Given the description of an element on the screen output the (x, y) to click on. 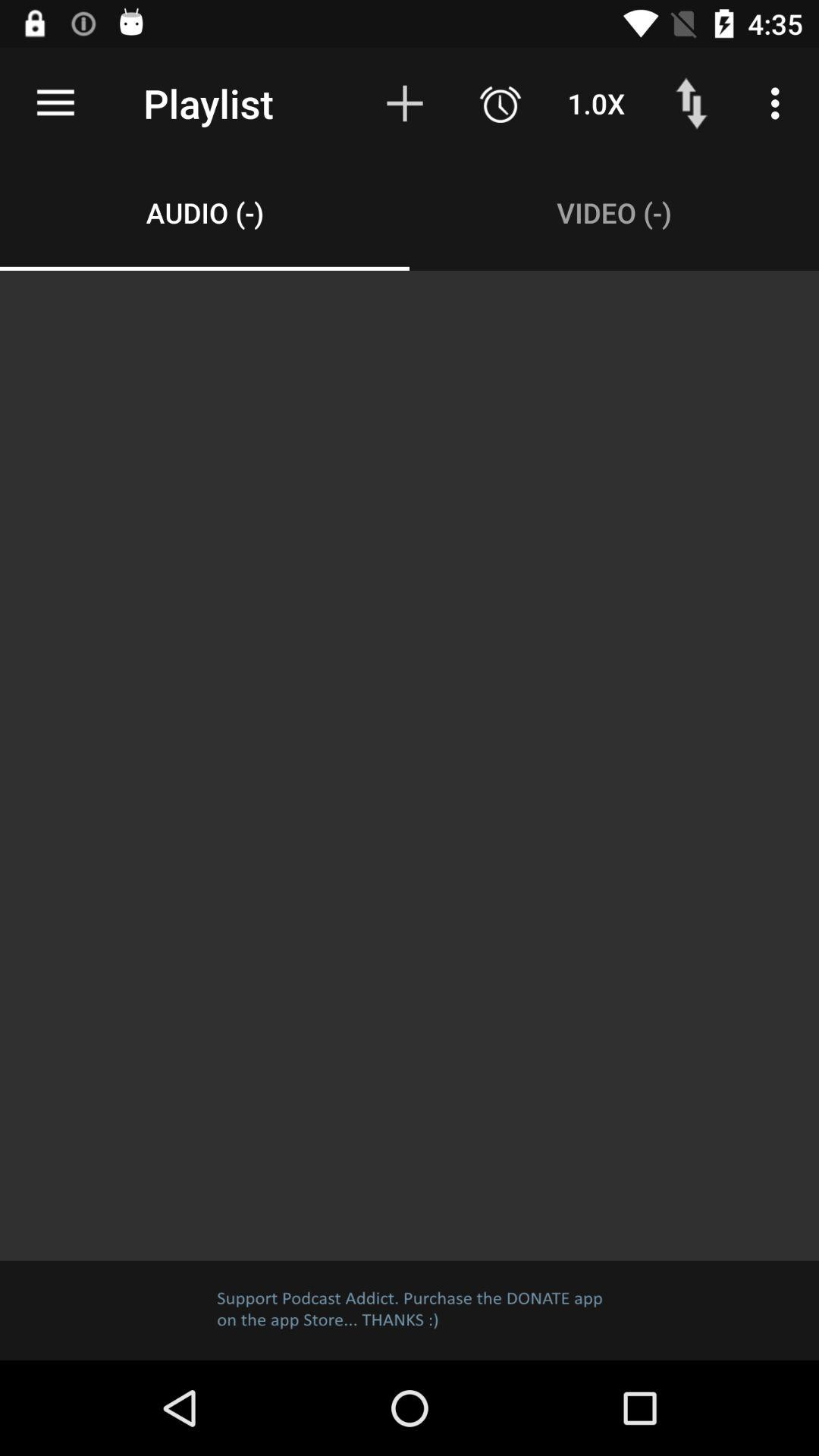
click the item to the left of 1.0x icon (500, 103)
